Given the description of an element on the screen output the (x, y) to click on. 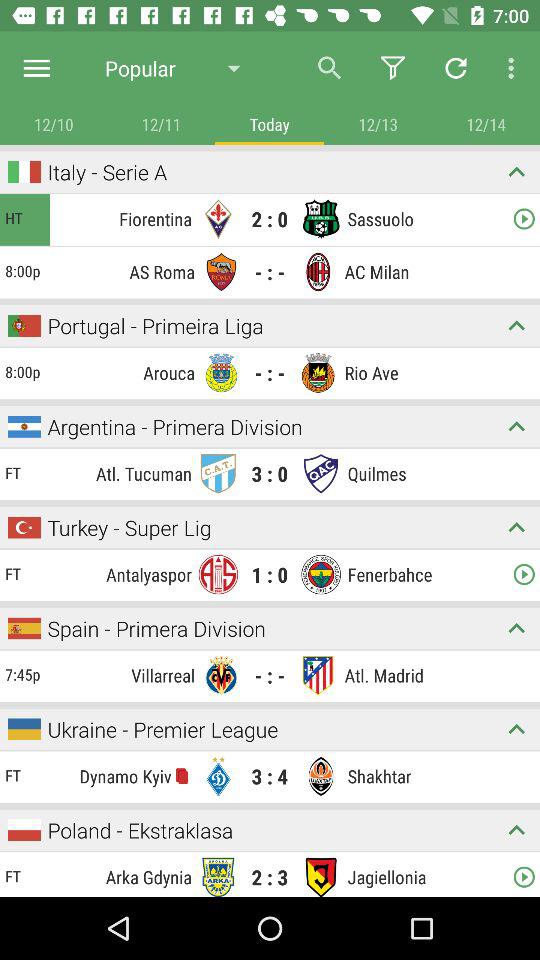
go to up (516, 728)
